Given the description of an element on the screen output the (x, y) to click on. 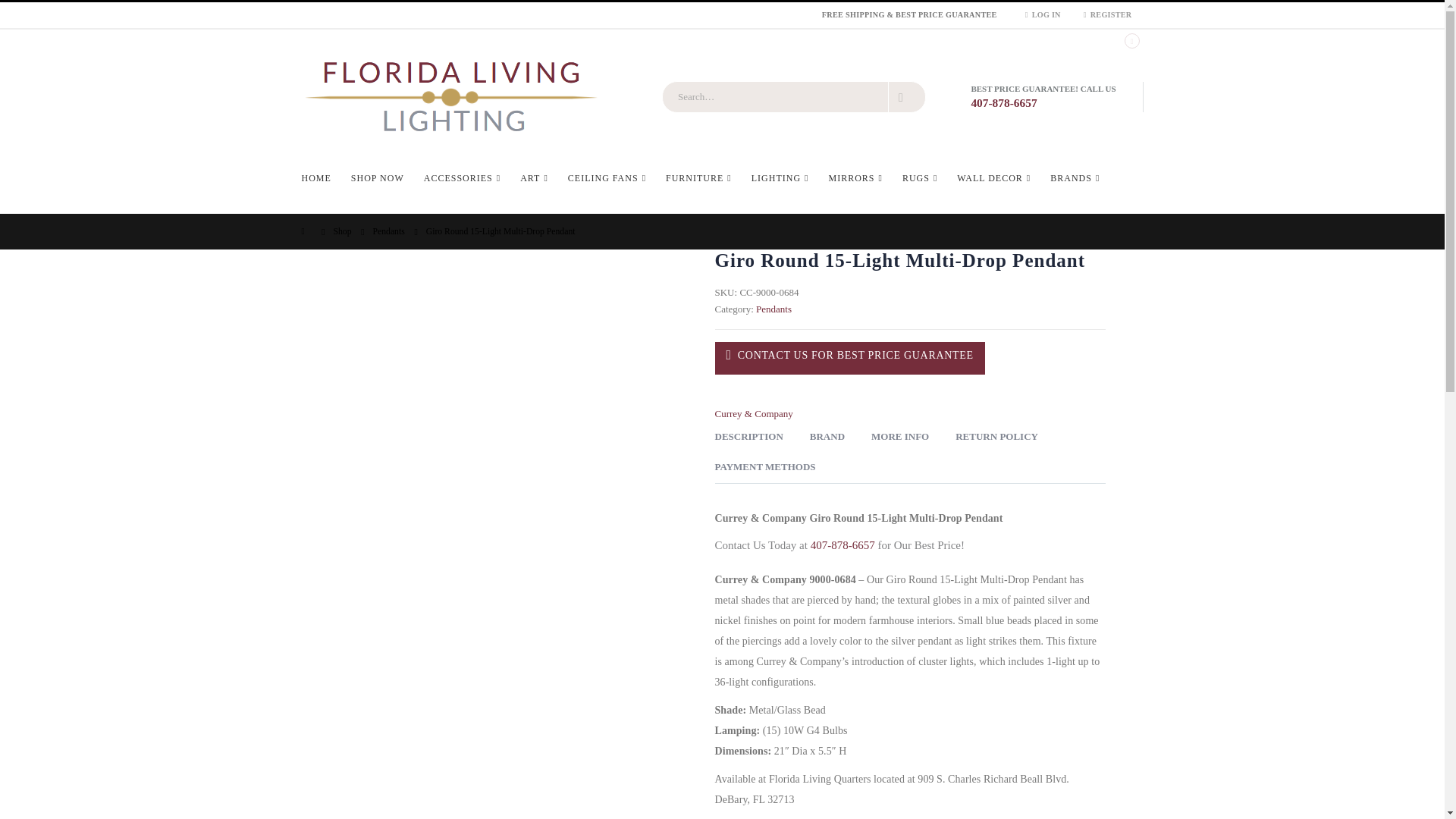
HOME (320, 177)
ART (534, 177)
CEILING FANS (606, 177)
SHOP NOW (376, 177)
LOG IN (1042, 14)
REGISTER (1106, 14)
407-878-6657 (1003, 102)
FURNITURE (698, 177)
ACCESSORIES (462, 177)
